Given the description of an element on the screen output the (x, y) to click on. 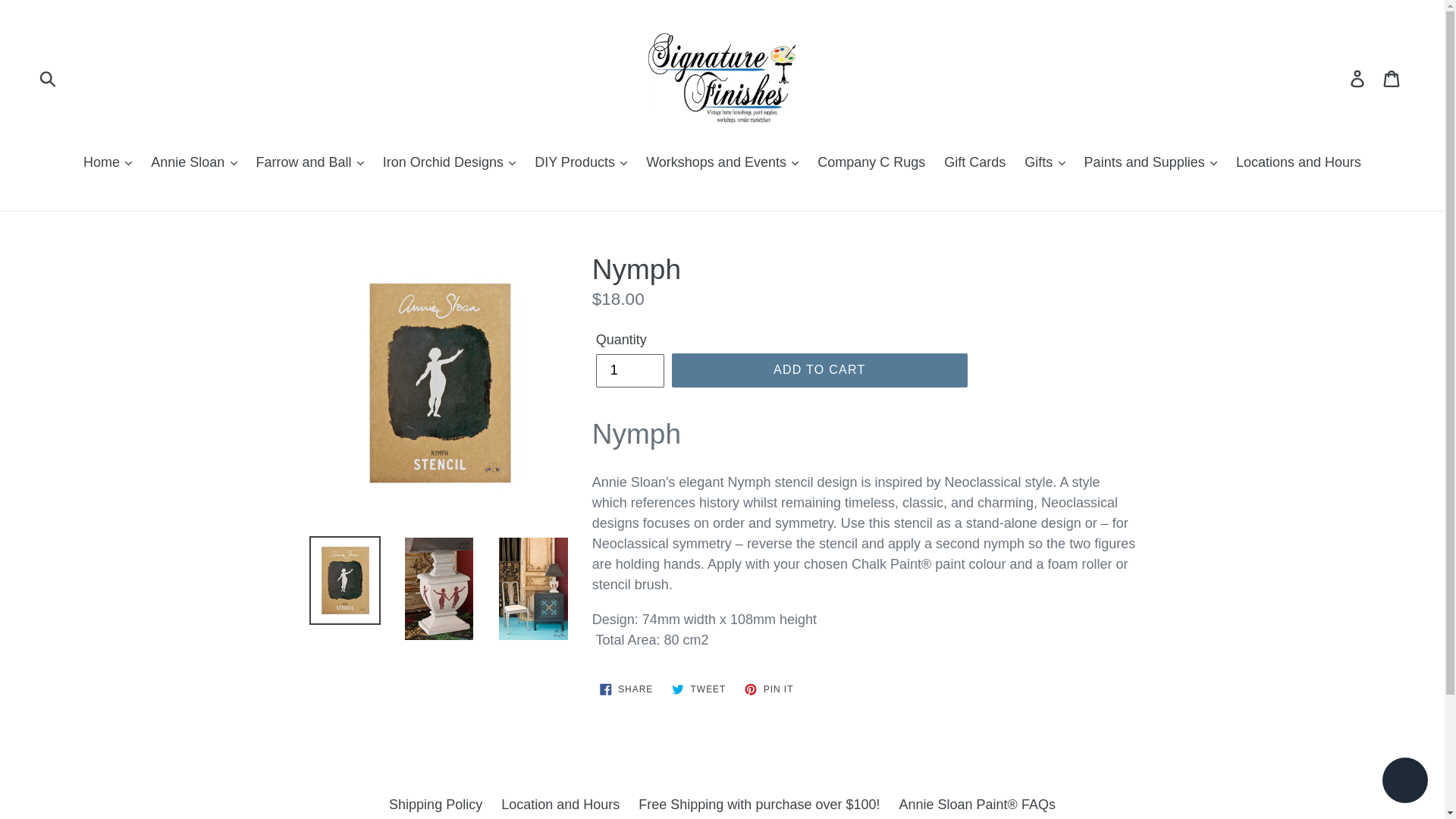
Submit (48, 78)
1 (629, 370)
Shopify online store chat (1404, 781)
Log in (1357, 78)
Cart (1392, 78)
